Given the description of an element on the screen output the (x, y) to click on. 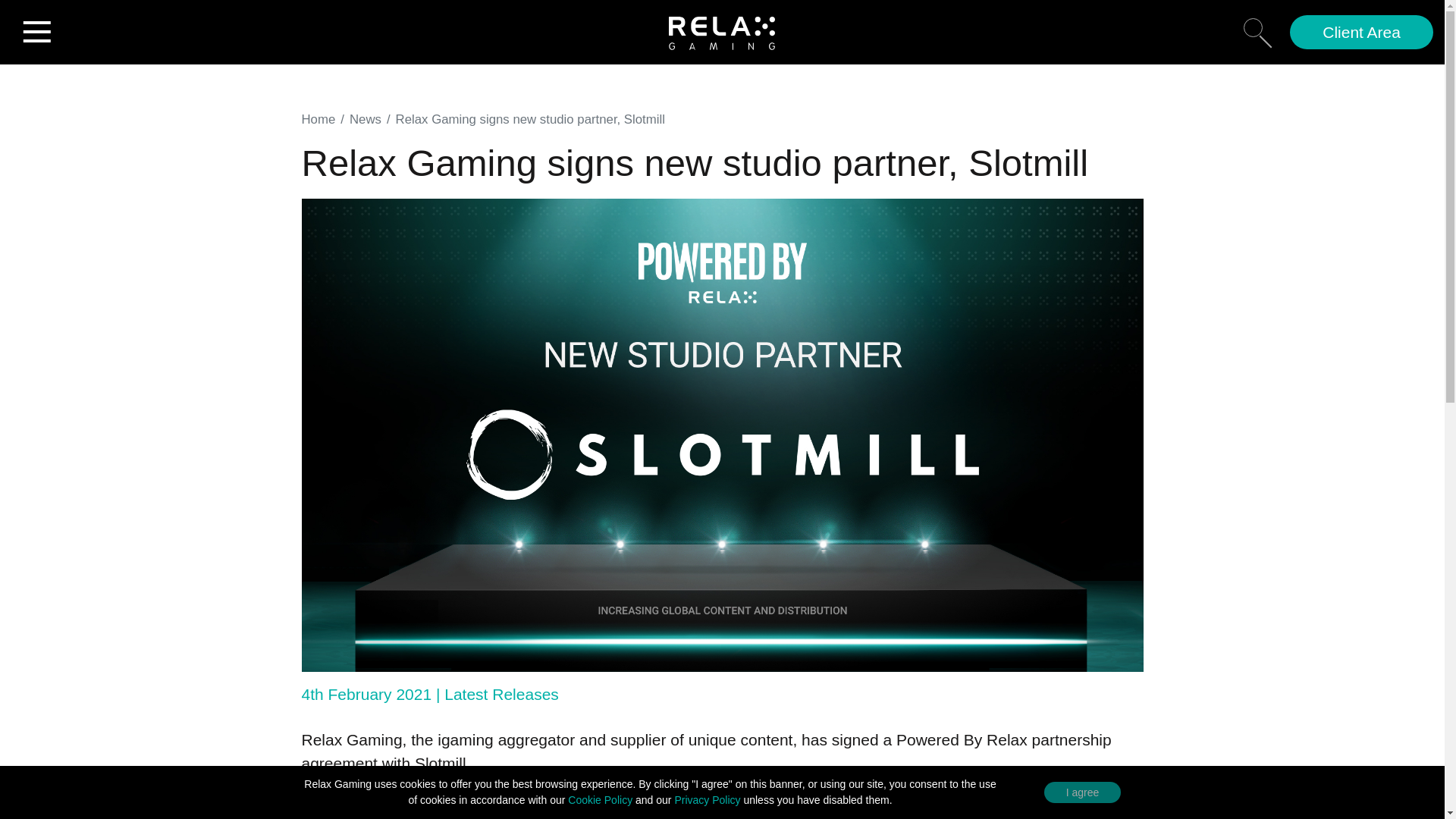
News (365, 119)
Client Area (1361, 32)
Home (318, 119)
